Given the description of an element on the screen output the (x, y) to click on. 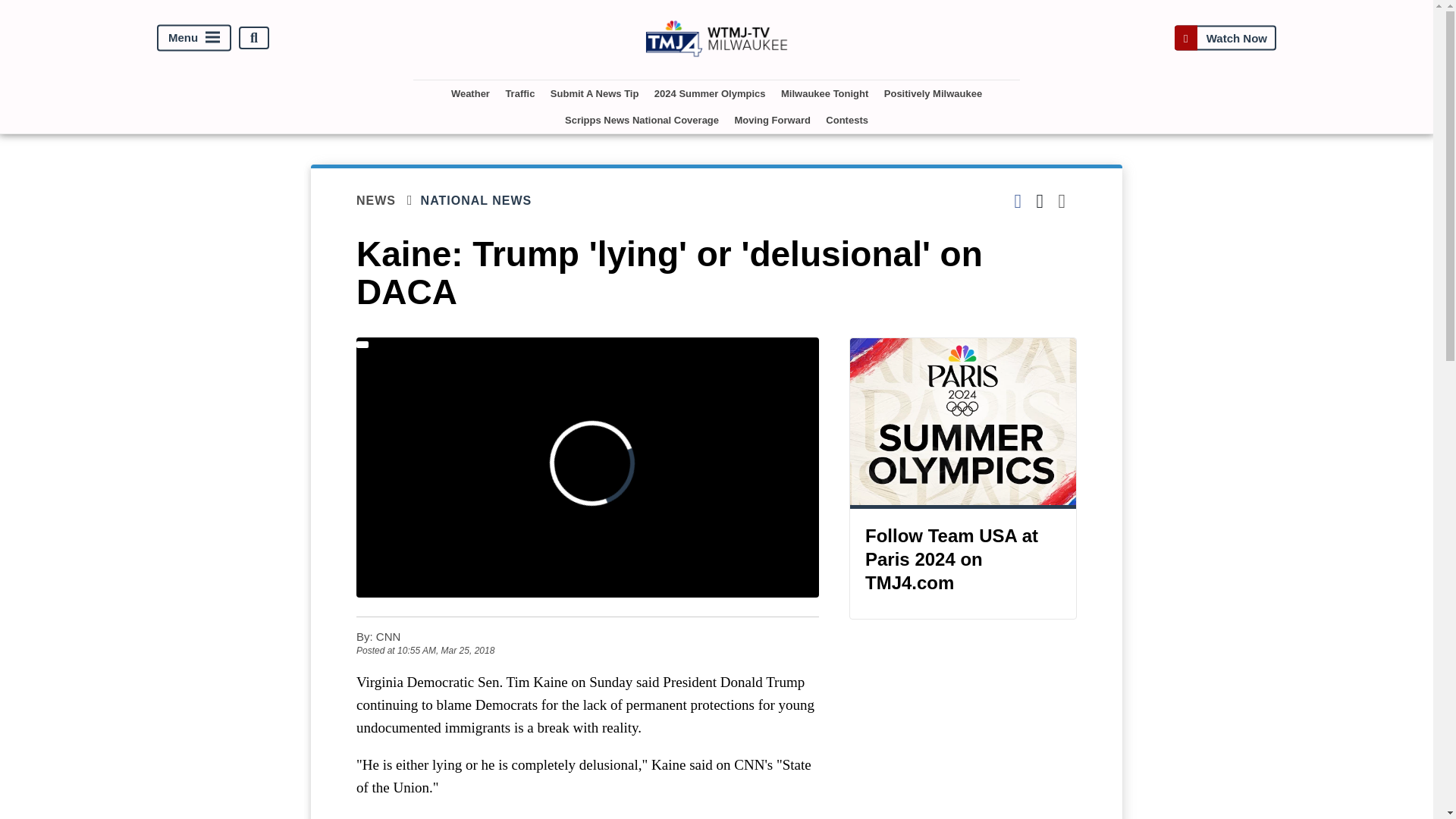
Menu (194, 38)
Watch Now (1224, 38)
